Given the description of an element on the screen output the (x, y) to click on. 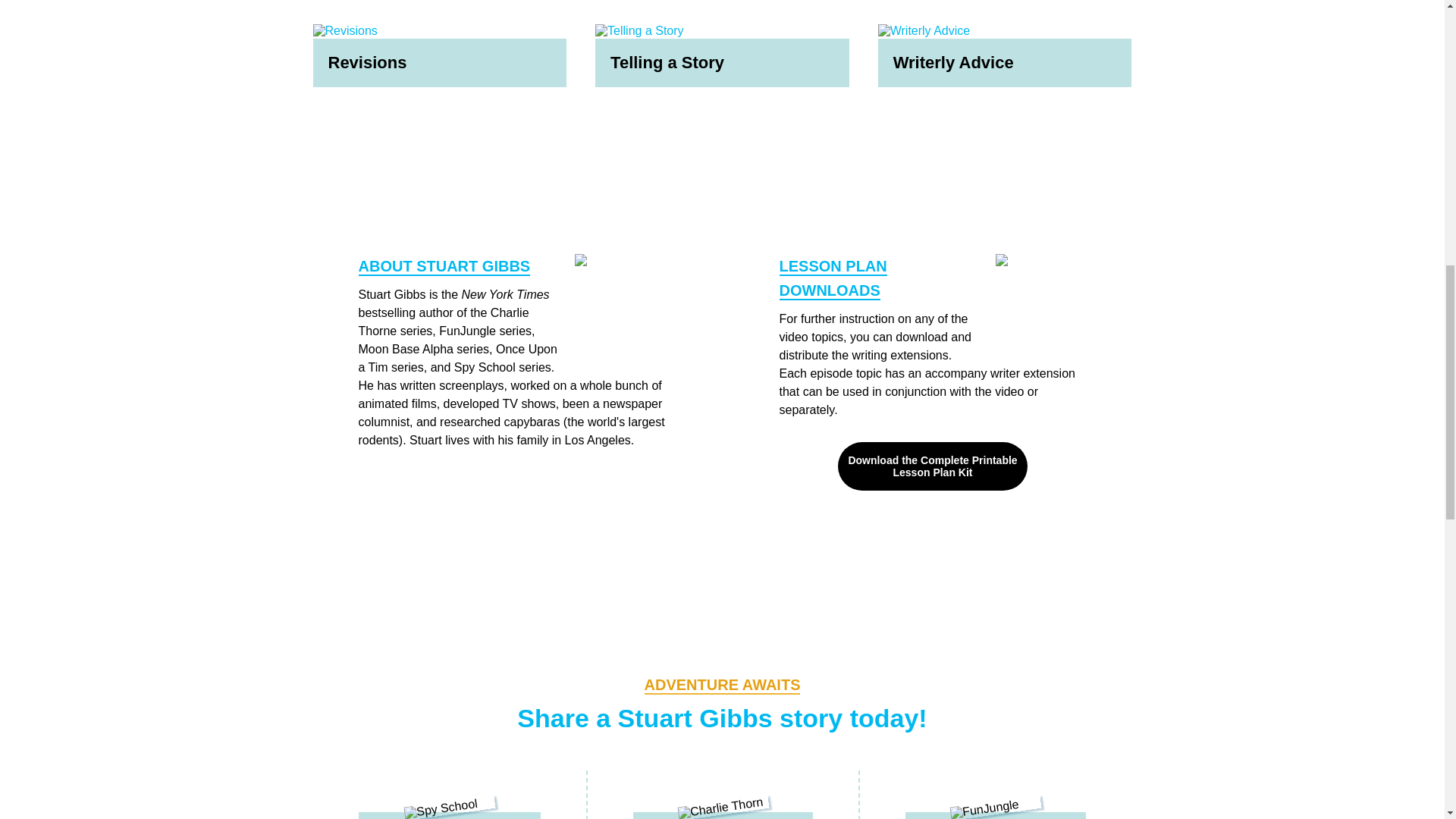
Revisions (439, 55)
Telling a Story (721, 55)
Writerly Advice (1004, 55)
Download the Complete Printable Lesson Plan Kit (932, 466)
